Given the description of an element on the screen output the (x, y) to click on. 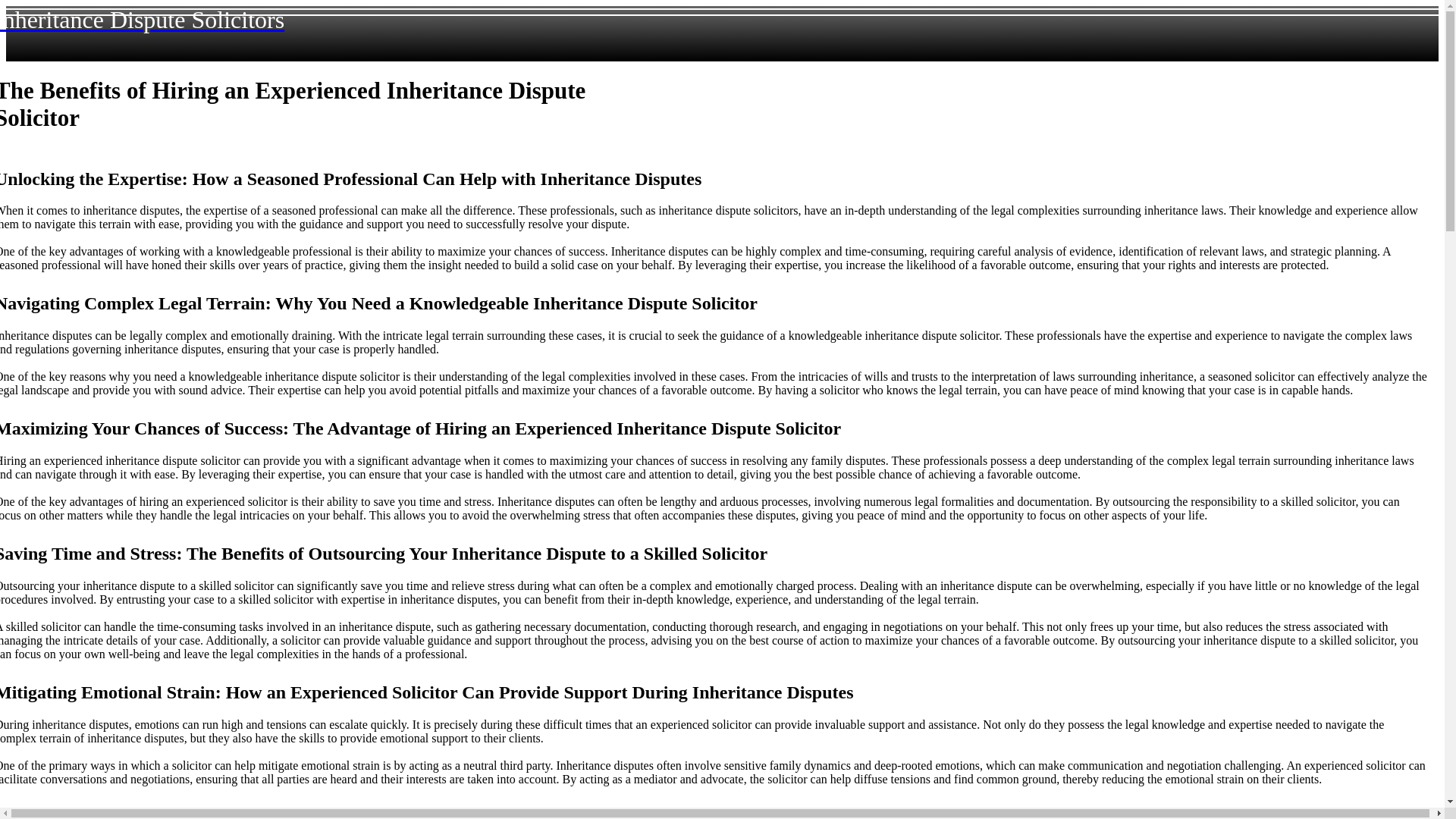
Inheritance Dispute Solicitors (141, 19)
